Given the description of an element on the screen output the (x, y) to click on. 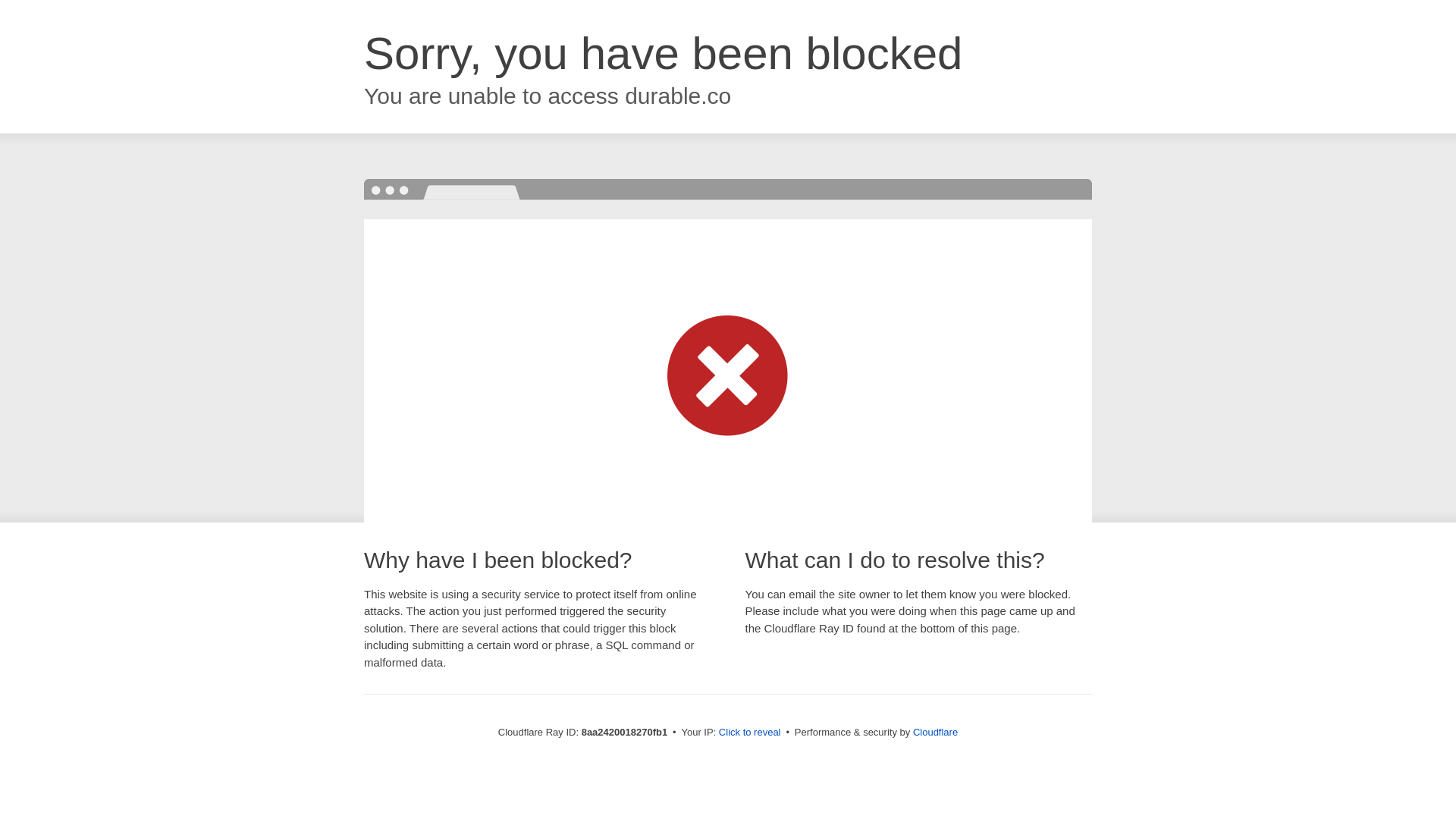
Click to reveal (749, 732)
Cloudflare (935, 731)
